Given the description of an element on the screen output the (x, y) to click on. 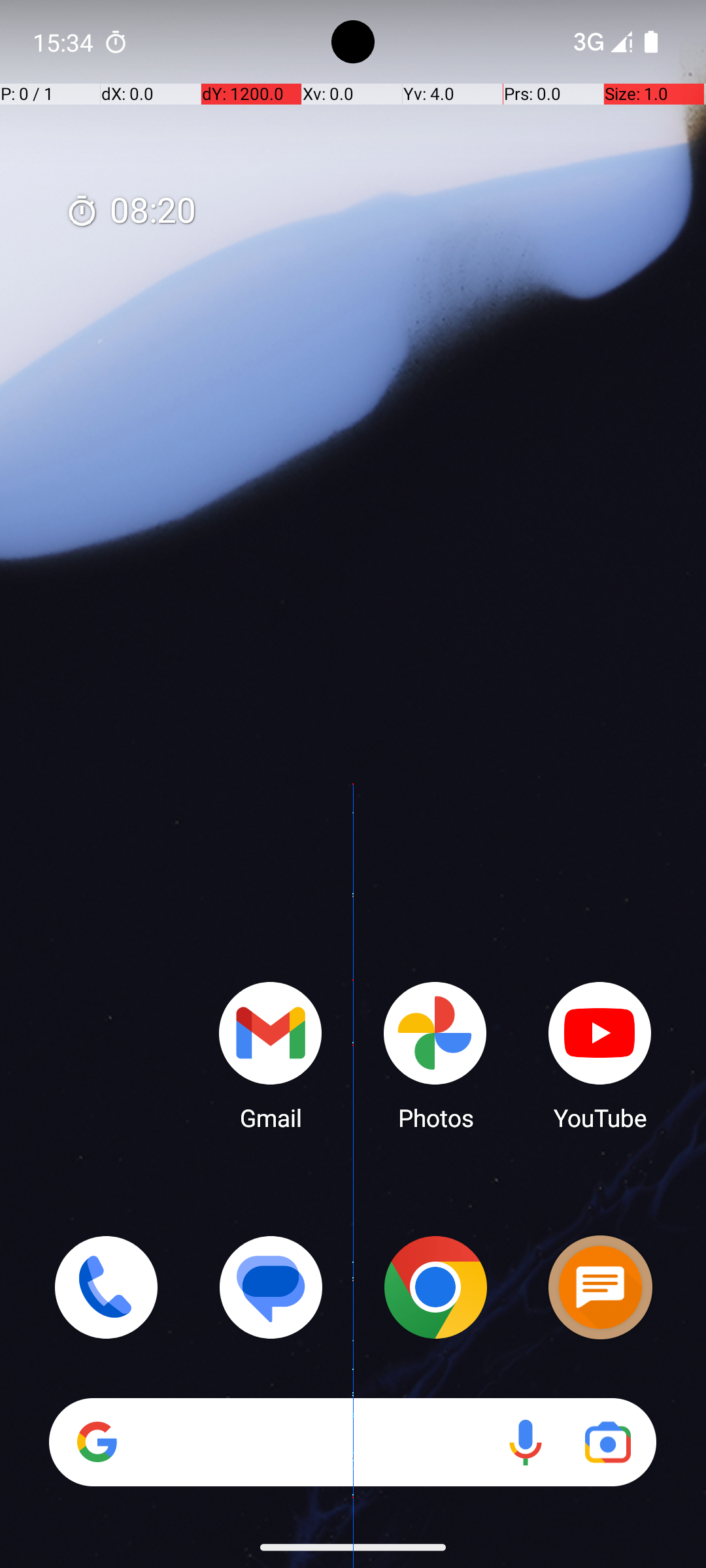
08:21 Element type: android.widget.TextView (130, 210)
